Given the description of an element on the screen output the (x, y) to click on. 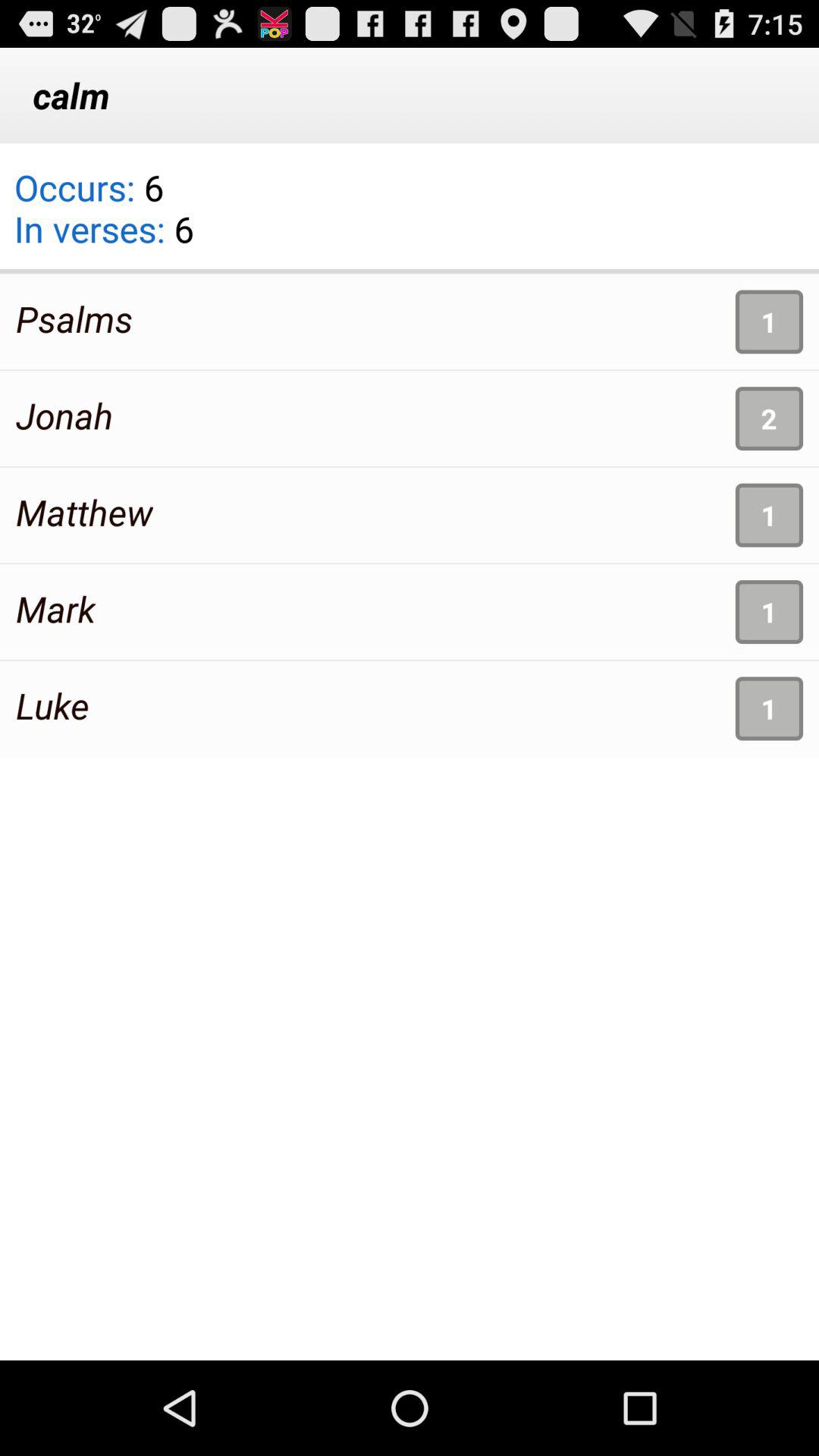
open the icon below the psalms (64, 415)
